Given the description of an element on the screen output the (x, y) to click on. 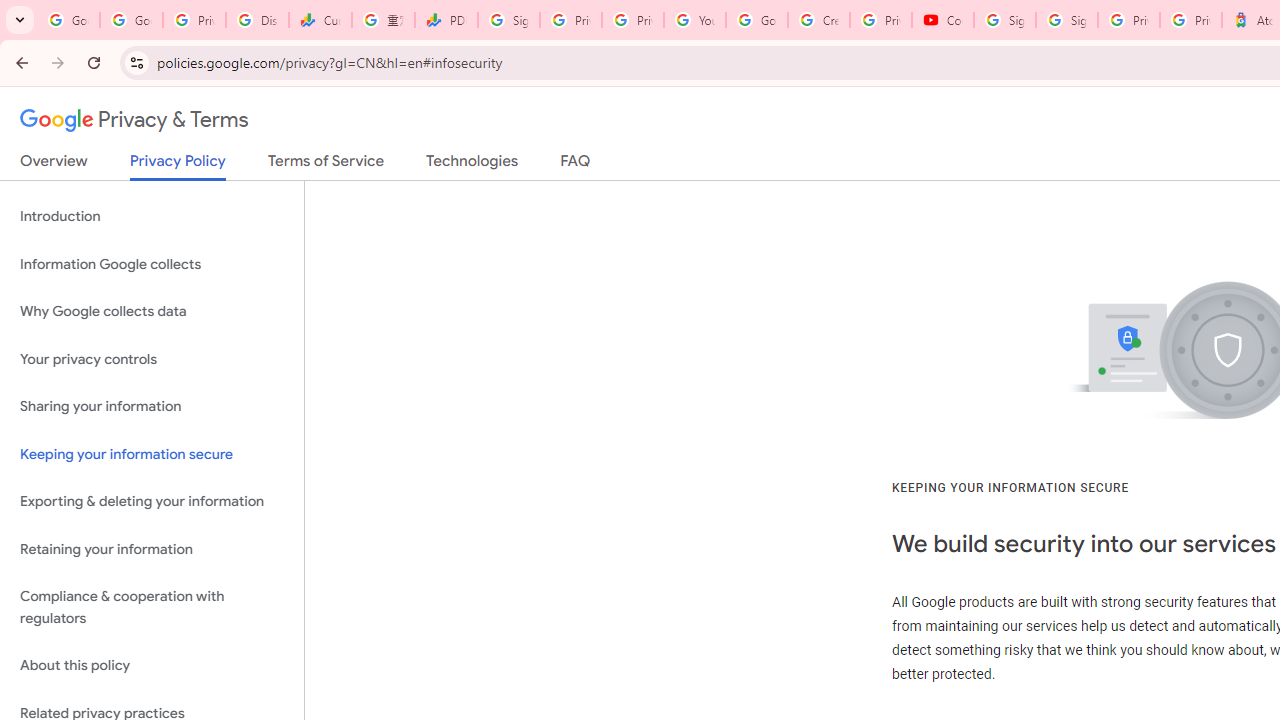
Google Account Help (756, 20)
Compliance & cooperation with regulators (152, 607)
Content Creator Programs & Opportunities - YouTube Creators (942, 20)
Information Google collects (152, 263)
Retaining your information (152, 548)
Currencies - Google Finance (320, 20)
Google Workspace Admin Community (68, 20)
